Given the description of an element on the screen output the (x, y) to click on. 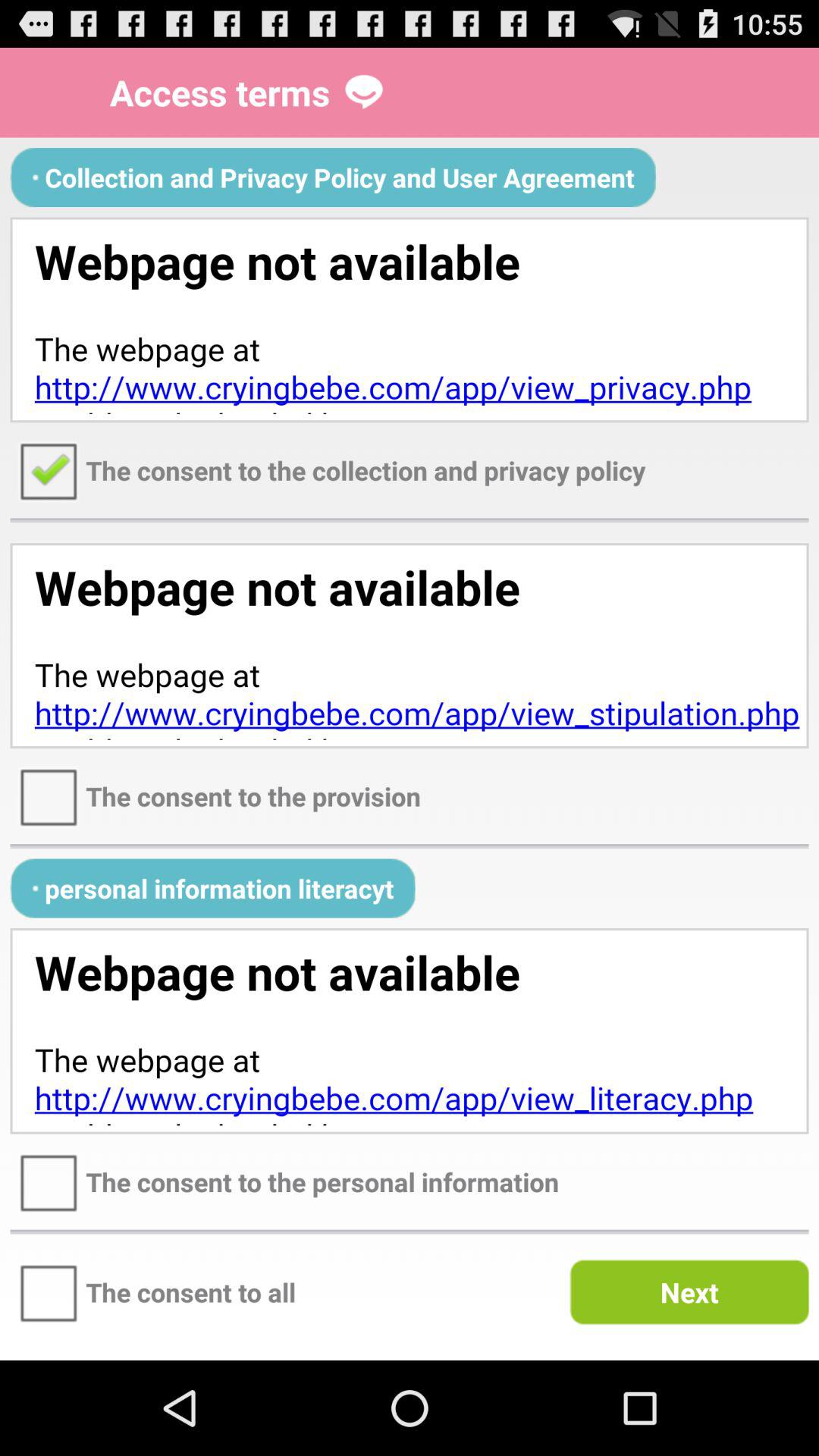
web link (409, 1030)
